Given the description of an element on the screen output the (x, y) to click on. 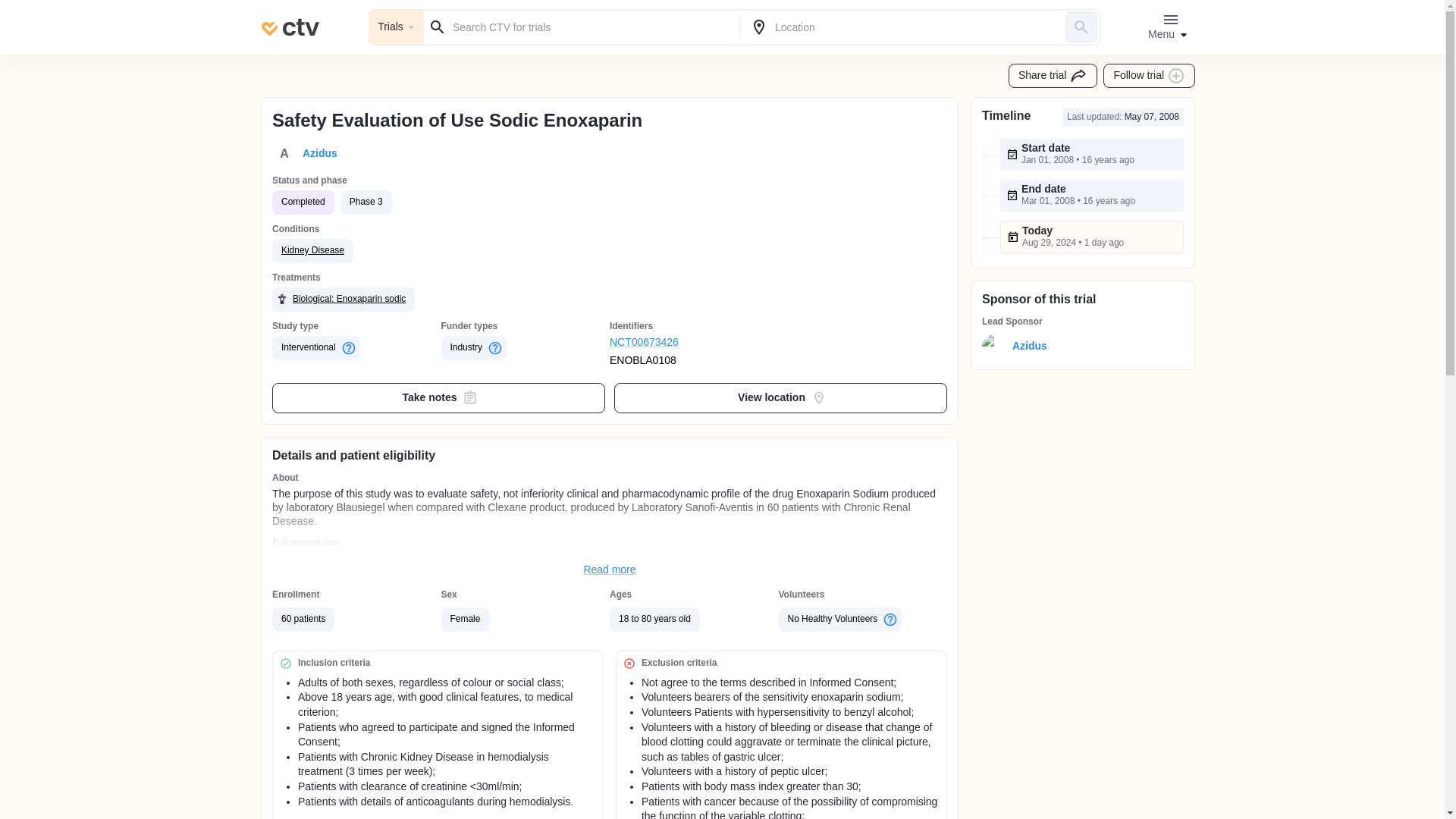
NCT00673426 (694, 342)
Take notes (438, 398)
Share trial (1053, 75)
Trials (396, 27)
View location (780, 398)
Azidus (1026, 345)
Azidus (317, 153)
Read more (609, 570)
Follow trial (1149, 75)
